Given the description of an element on the screen output the (x, y) to click on. 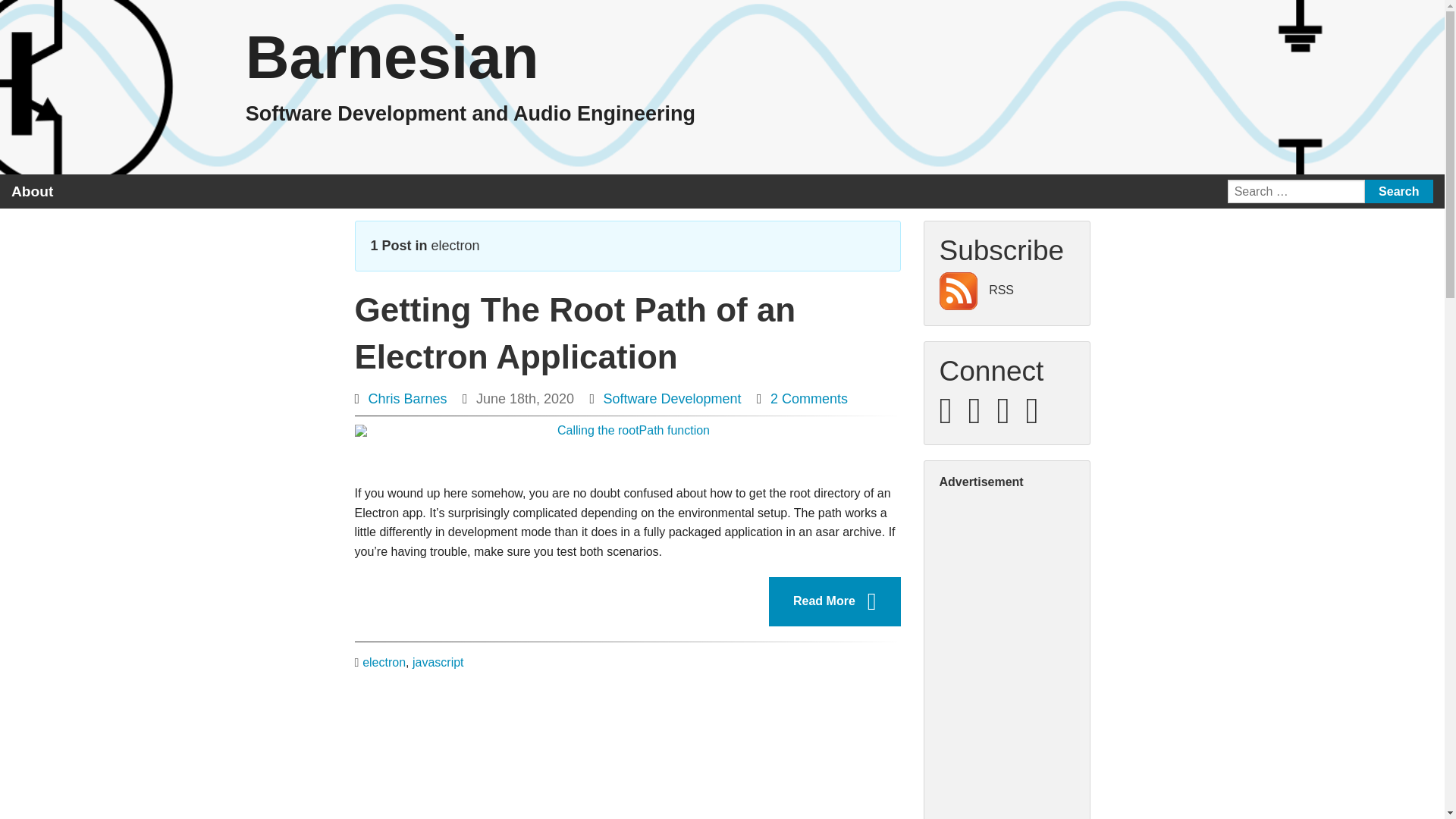
Search (1398, 191)
Posts by Chris Barnes (407, 398)
Subscribe via RSS (125, 191)
Search (1398, 191)
Getting The Root Path of an Electron Application (575, 333)
About (32, 191)
RSS (976, 289)
Chris Barnes (407, 398)
